Given the description of an element on the screen output the (x, y) to click on. 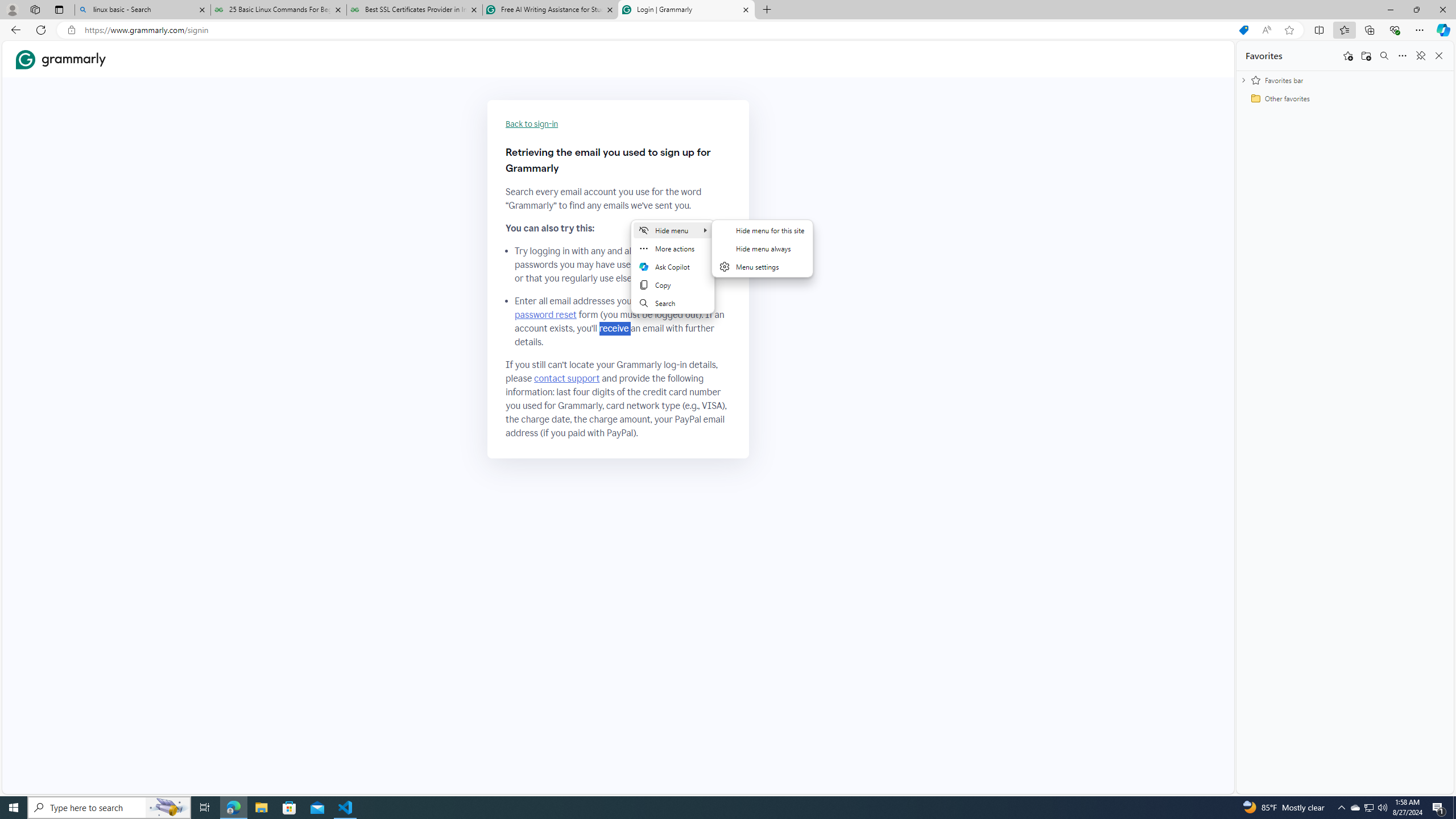
Unpin favorites (1420, 55)
contact support (566, 378)
Hide menu (761, 248)
